Given the description of an element on the screen output the (x, y) to click on. 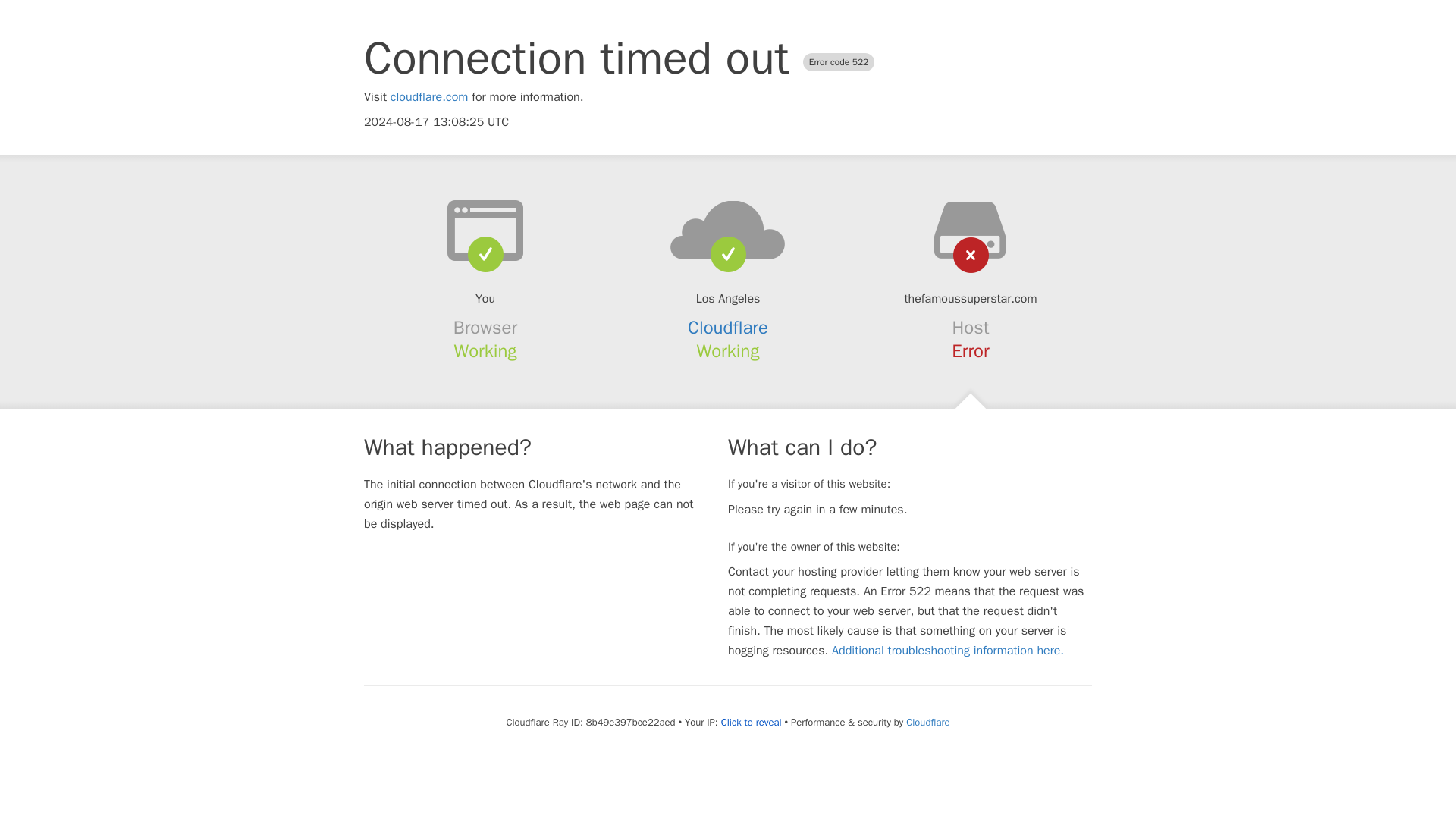
cloudflare.com (429, 96)
Cloudflare (727, 327)
Additional troubleshooting information here. (947, 650)
Cloudflare (927, 721)
Click to reveal (750, 722)
